Given the description of an element on the screen output the (x, y) to click on. 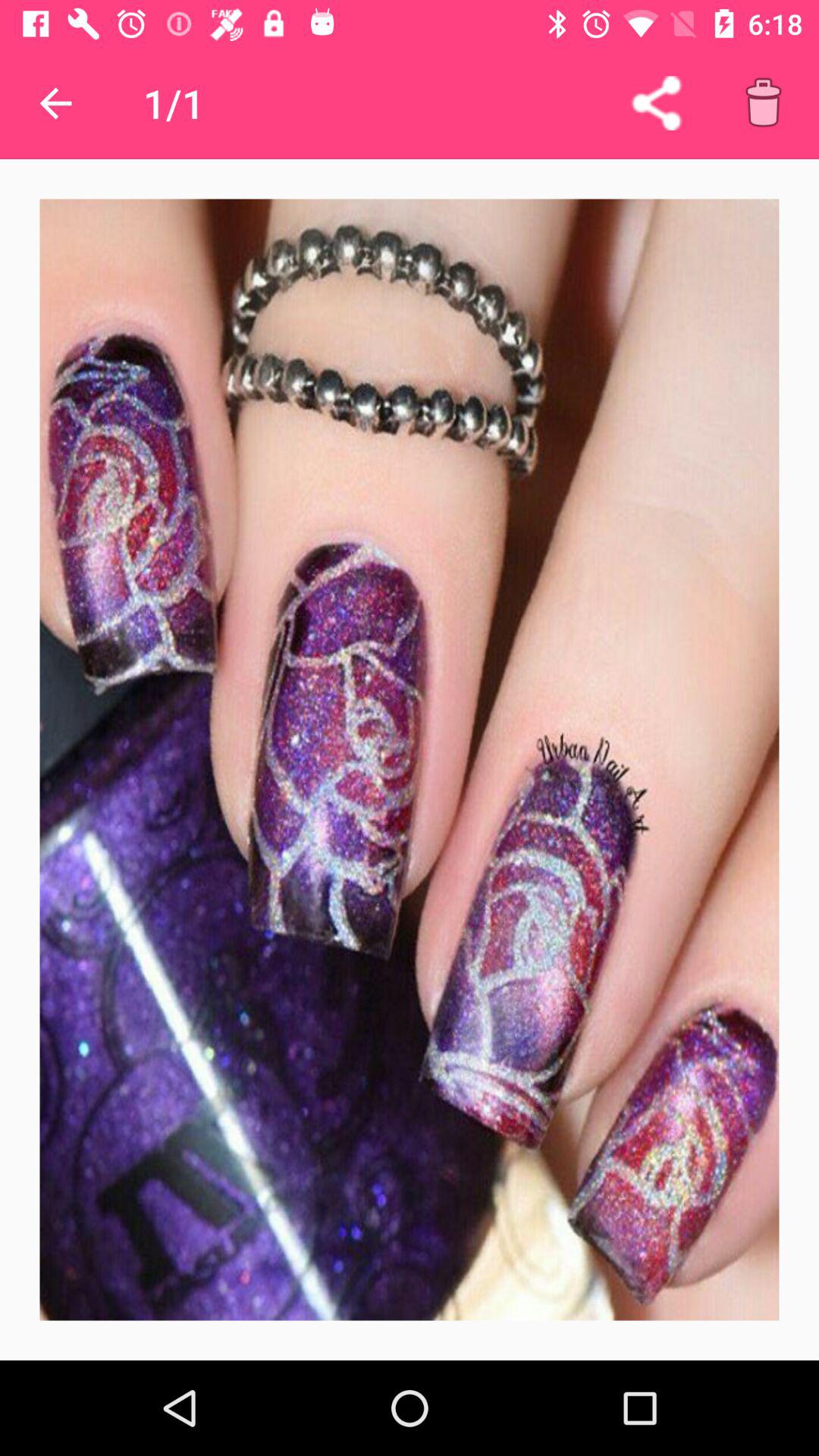
turn off item next to the 1/1 icon (656, 103)
